Given the description of an element on the screen output the (x, y) to click on. 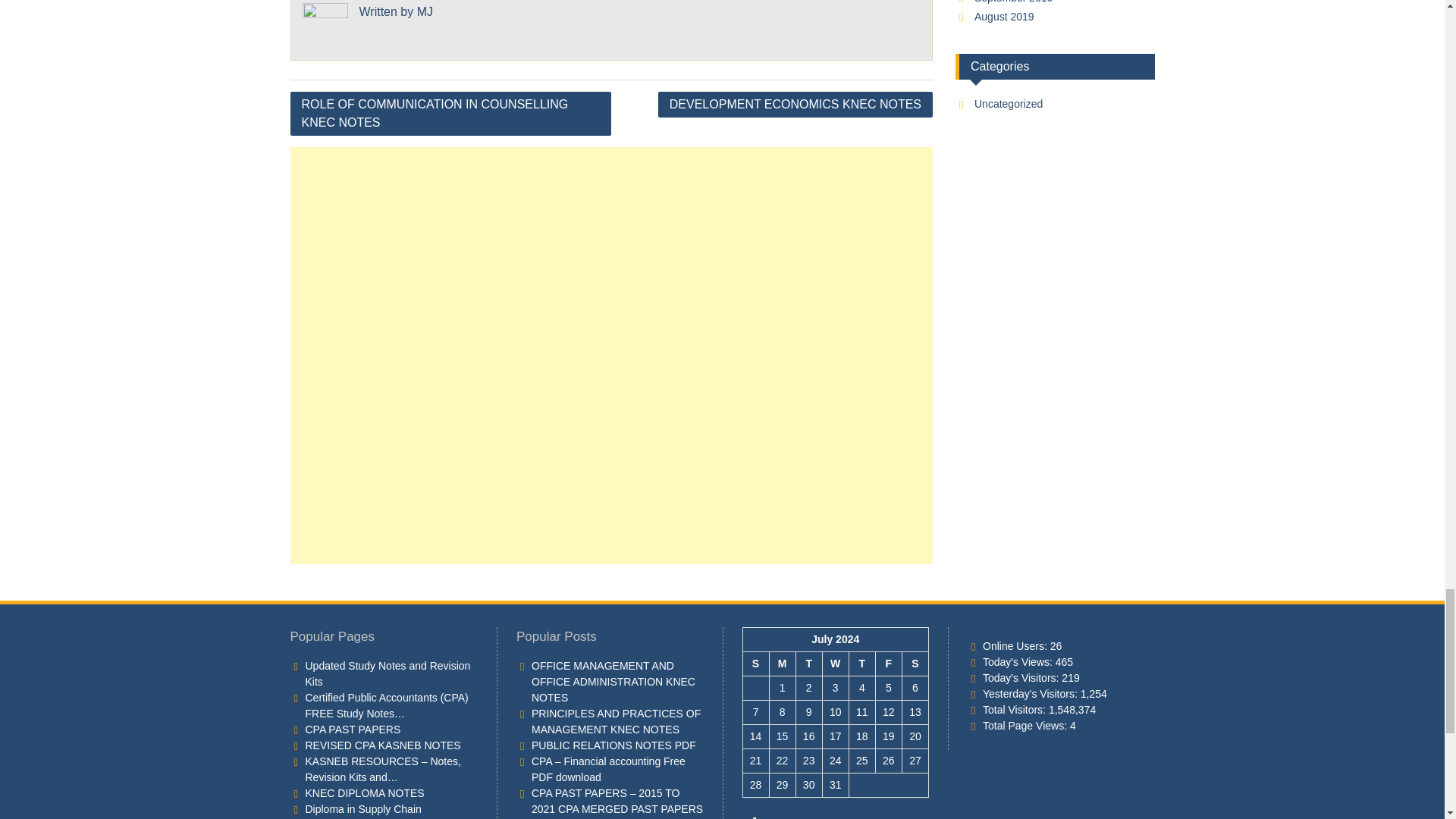
Monday (781, 663)
Wednesday (835, 663)
Saturday (914, 663)
Friday (888, 663)
Posts by MJ (424, 11)
MJ (424, 11)
Sunday (755, 663)
Thursday (861, 663)
Tuesday (808, 663)
DEVELOPMENT ECONOMICS KNEC NOTES (795, 104)
ROLE OF COMMUNICATION IN COUNSELLING KNEC NOTES (450, 113)
